Given the description of an element on the screen output the (x, y) to click on. 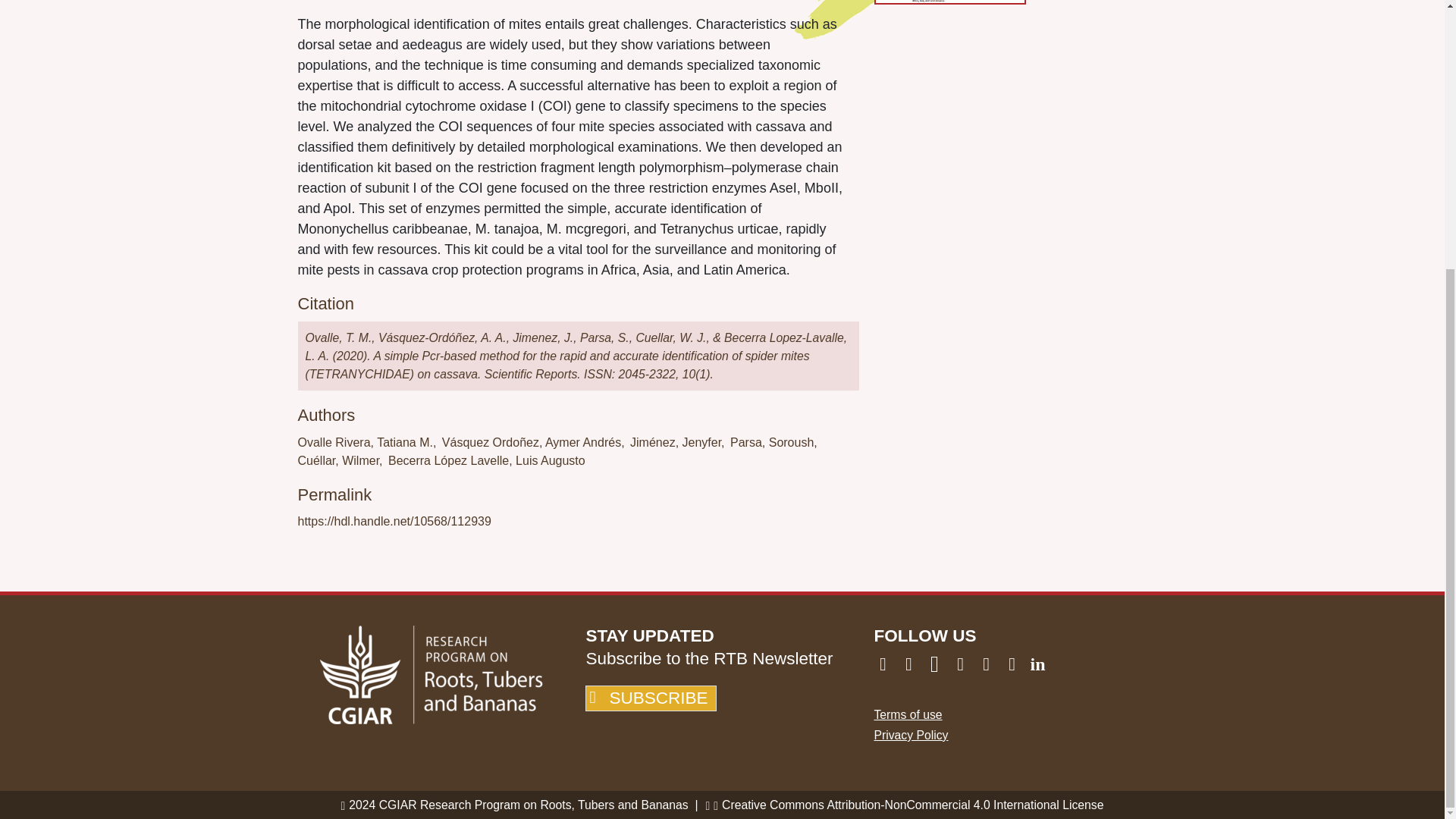
Subscribe (650, 698)
